Given the description of an element on the screen output the (x, y) to click on. 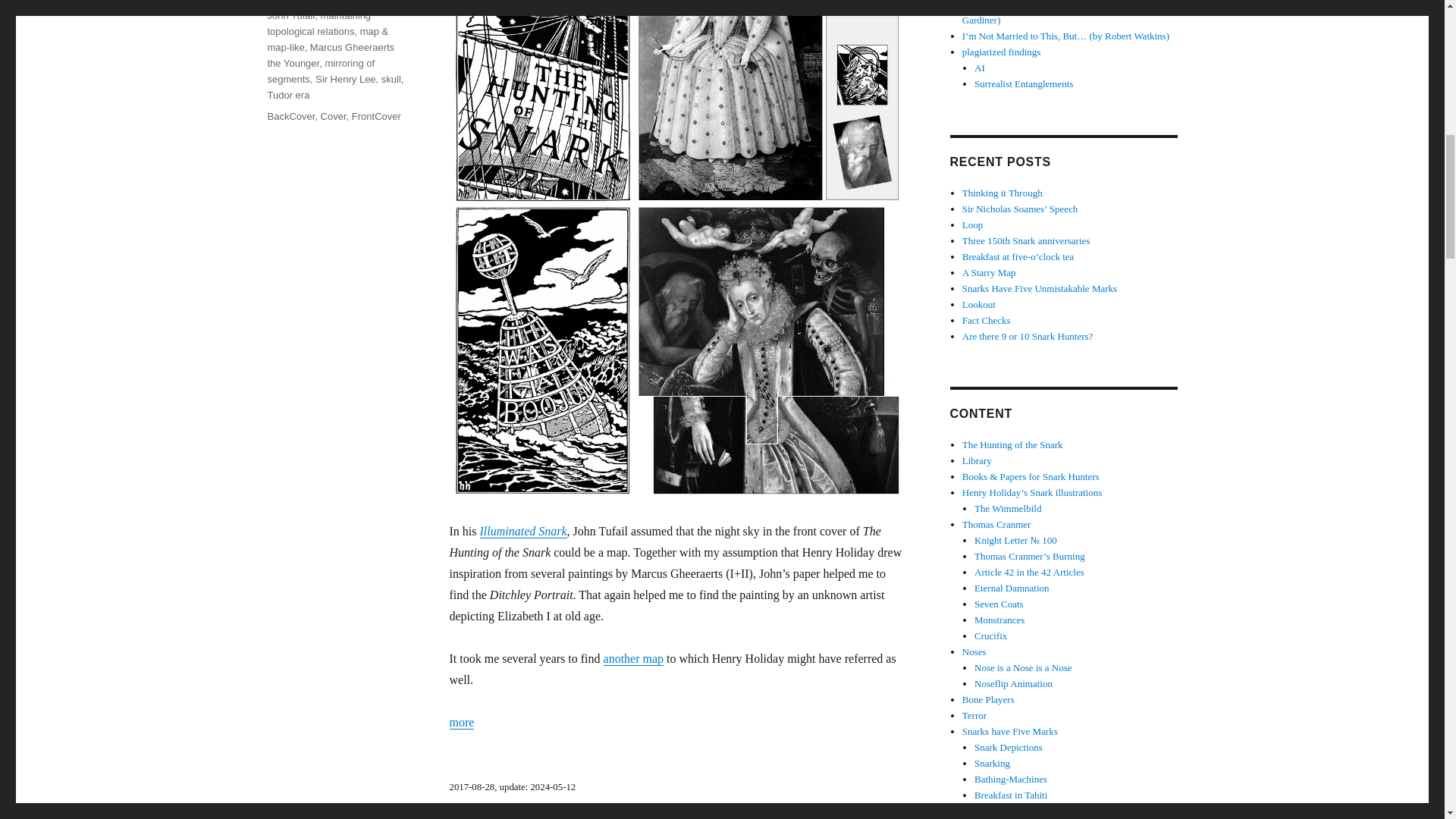
maintaining topological relations (318, 22)
mirroring of segments (320, 71)
Father Time (292, 2)
gallery (338, 2)
John Tufail (290, 15)
more (461, 721)
Marcus Gheeraerts the Younger (330, 54)
Sir Henry Lee (345, 79)
in focus (376, 2)
another map (633, 658)
Illuminated Snark (522, 530)
